Given the description of an element on the screen output the (x, y) to click on. 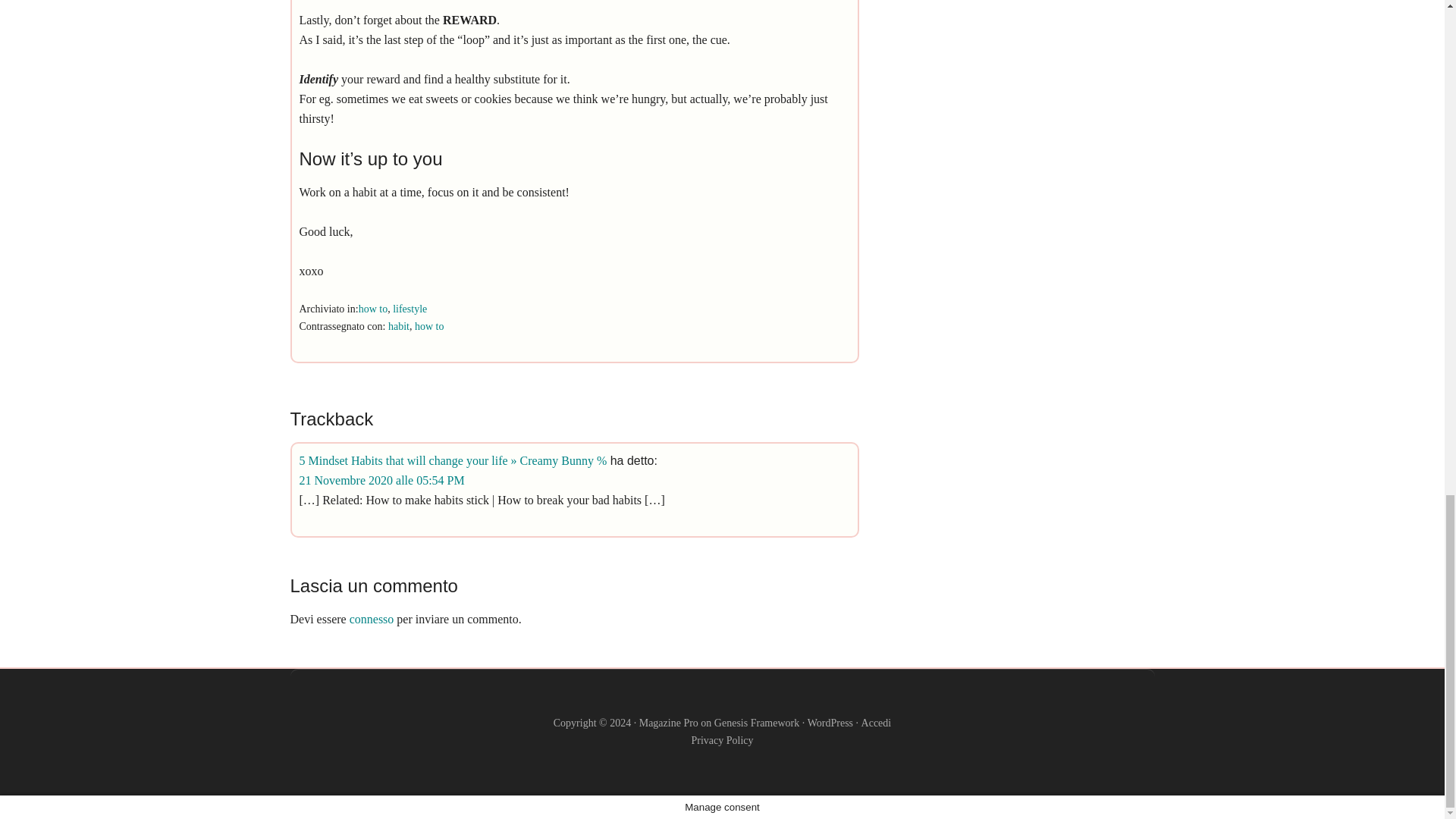
Magazine Pro (668, 722)
Genesis Framework (756, 722)
how to (429, 326)
how to (373, 308)
Privacy Policy (721, 740)
21 Novembre 2020 alle 05:54 PM (381, 480)
WordPress (830, 722)
Accedi (876, 722)
lifestyle (409, 308)
connesso (371, 618)
